Given the description of an element on the screen output the (x, y) to click on. 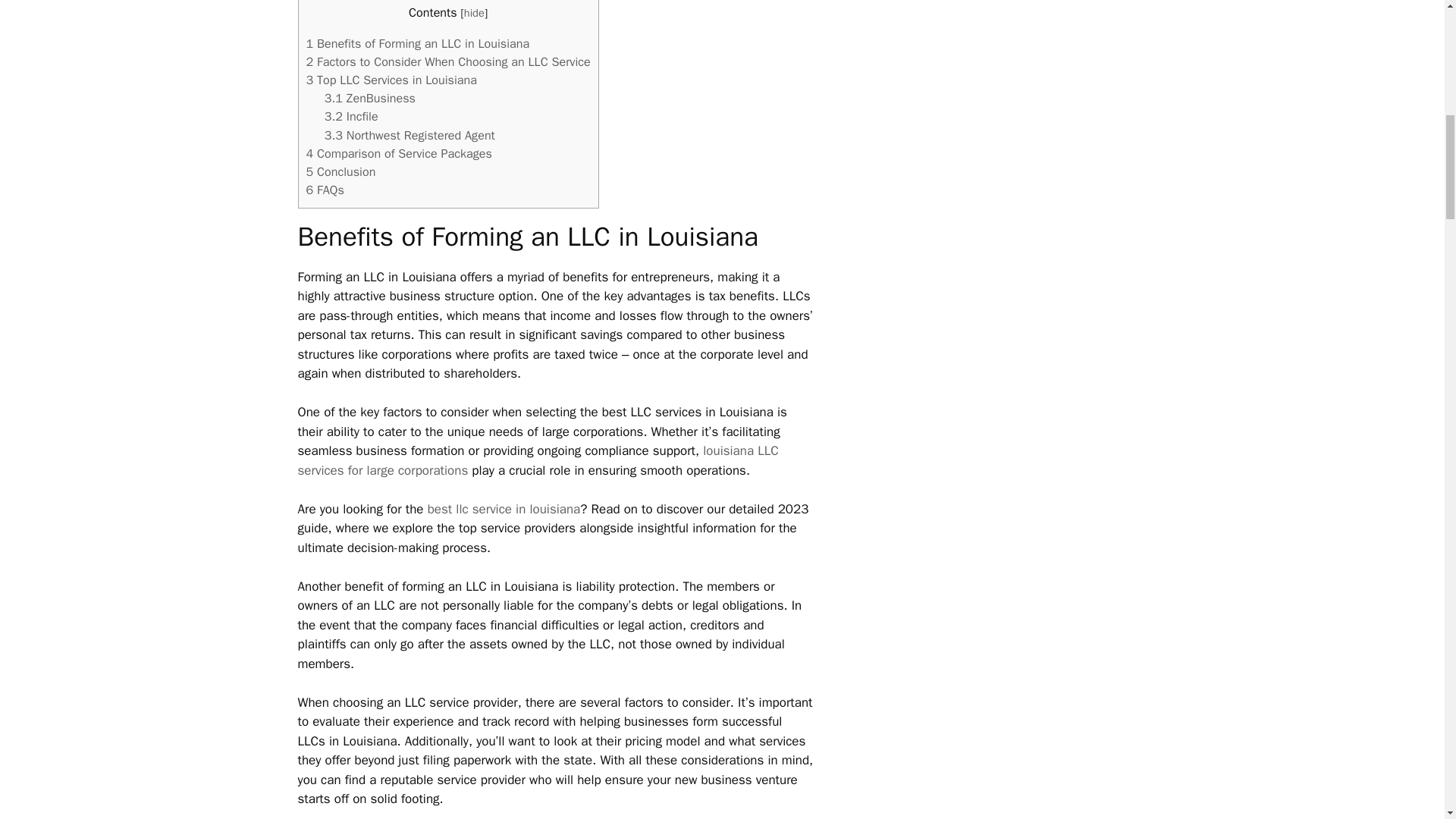
hide (474, 12)
3.1 ZenBusiness (369, 98)
1 Benefits of Forming an LLC in Louisiana (417, 43)
2 Factors to Consider When Choosing an LLC Service (448, 61)
3 Top LLC Services in Louisiana (391, 79)
5 Conclusion (340, 171)
4 Comparison of Service Packages (398, 153)
best llc service in louisiana (504, 508)
3.2 Incfile (351, 116)
louisiana LLC services for large corporations (537, 460)
3.3 Northwest Registered Agent (409, 135)
A Detailed 2023 Guide to the Best LLC Services in Louisiana (504, 508)
6 FAQs (324, 189)
